Given the description of an element on the screen output the (x, y) to click on. 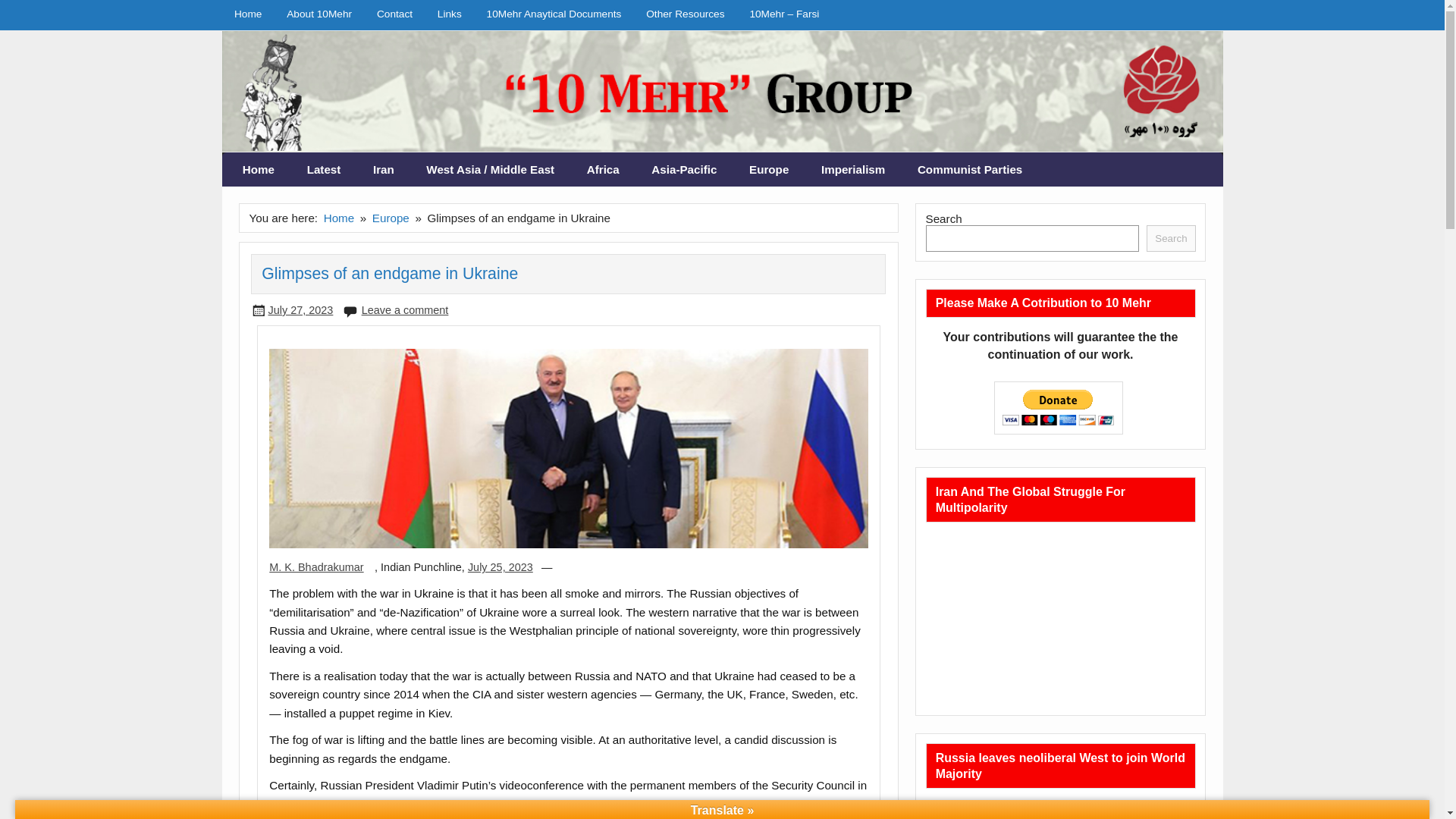
Africa (602, 170)
Communist Parties (970, 170)
Home (259, 170)
Latest (322, 170)
10Mehr Anaytical Documents (553, 14)
Imperialism (853, 170)
July 27, 2023 (300, 309)
Leave a comment (404, 309)
Asia-Pacific (683, 170)
July 25, 2023 (499, 567)
